Given the description of an element on the screen output the (x, y) to click on. 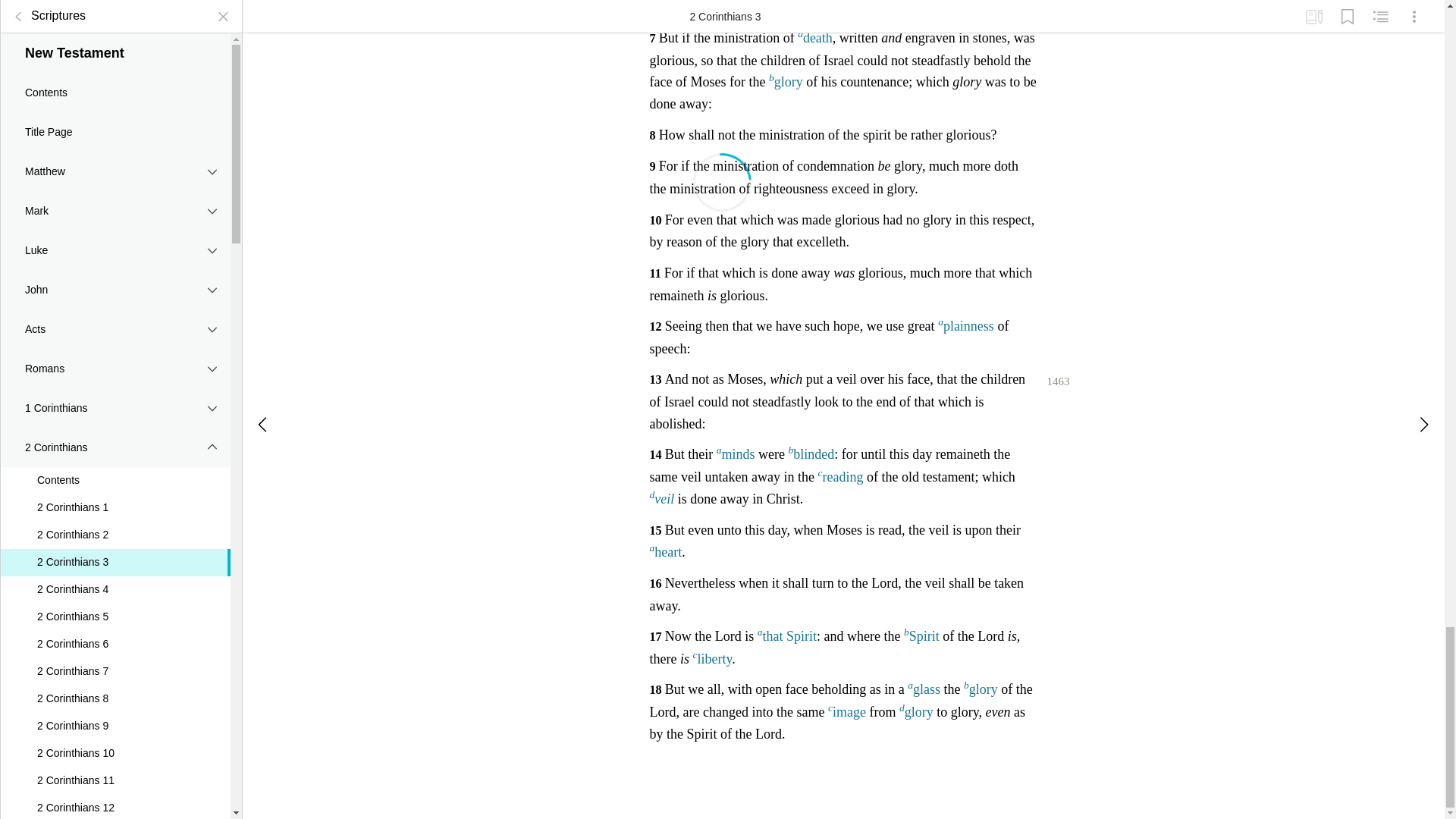
2 Corinthians 4 (115, 102)
Galatians (115, 381)
2 Corinthians 13 (115, 347)
2 Corinthians 1 (115, 20)
Titus (115, 696)
Colossians (115, 499)
Philippians (115, 459)
2 Corinthians 11 (115, 293)
2 Corinthians 5 (115, 129)
2 Corinthians 10 (115, 266)
2 Corinthians 3 (115, 74)
Contents (115, 3)
2 Corinthians 9 (115, 238)
2 Corinthians 2 (115, 47)
2 Thessalonians (115, 578)
